Given the description of an element on the screen output the (x, y) to click on. 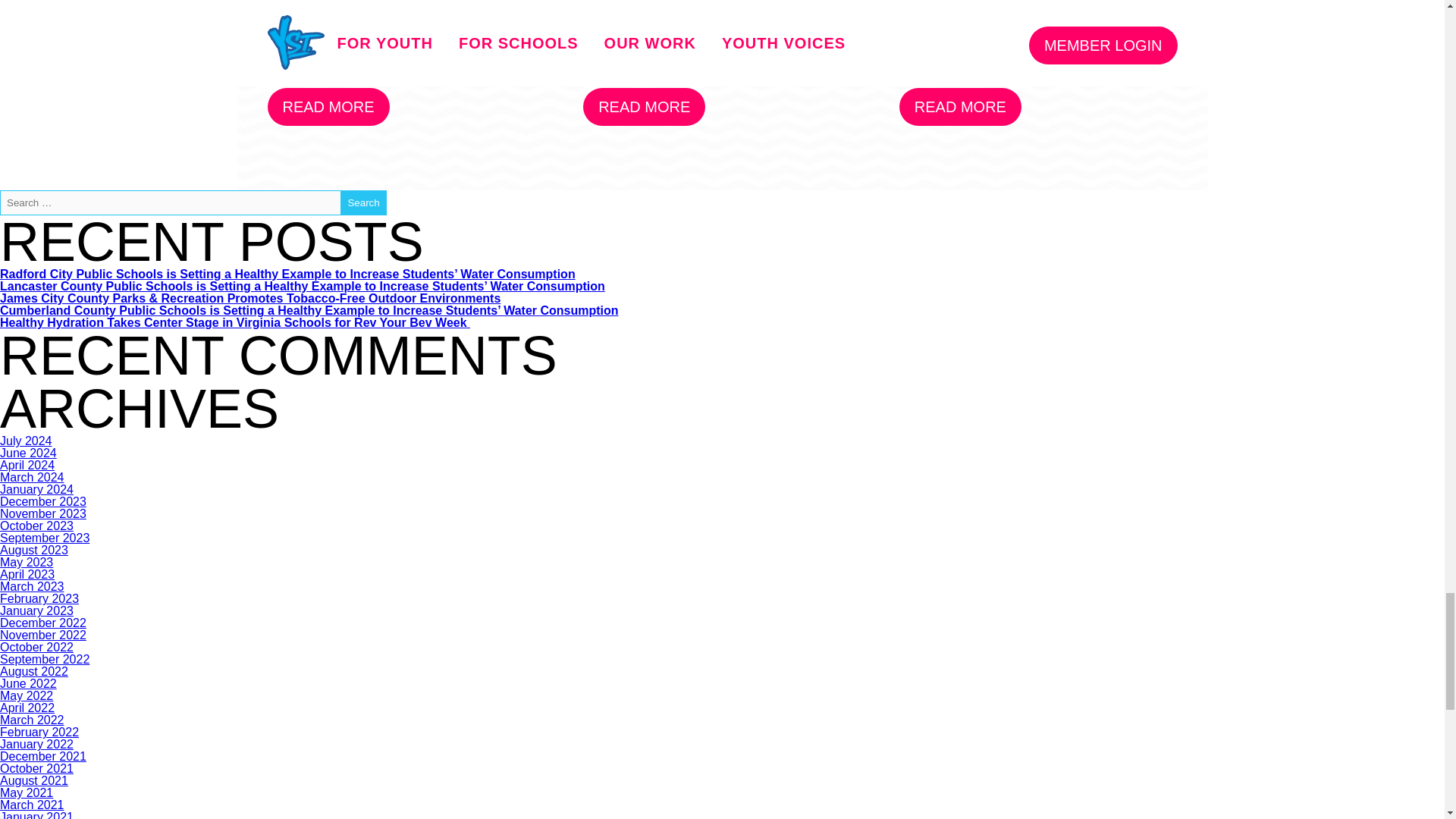
Search (362, 202)
READ MORE (643, 106)
Read more (327, 106)
Read more (960, 106)
Search (362, 202)
READ MORE (327, 106)
Read more (643, 106)
Search (362, 202)
READ MORE (960, 106)
